Given the description of an element on the screen output the (x, y) to click on. 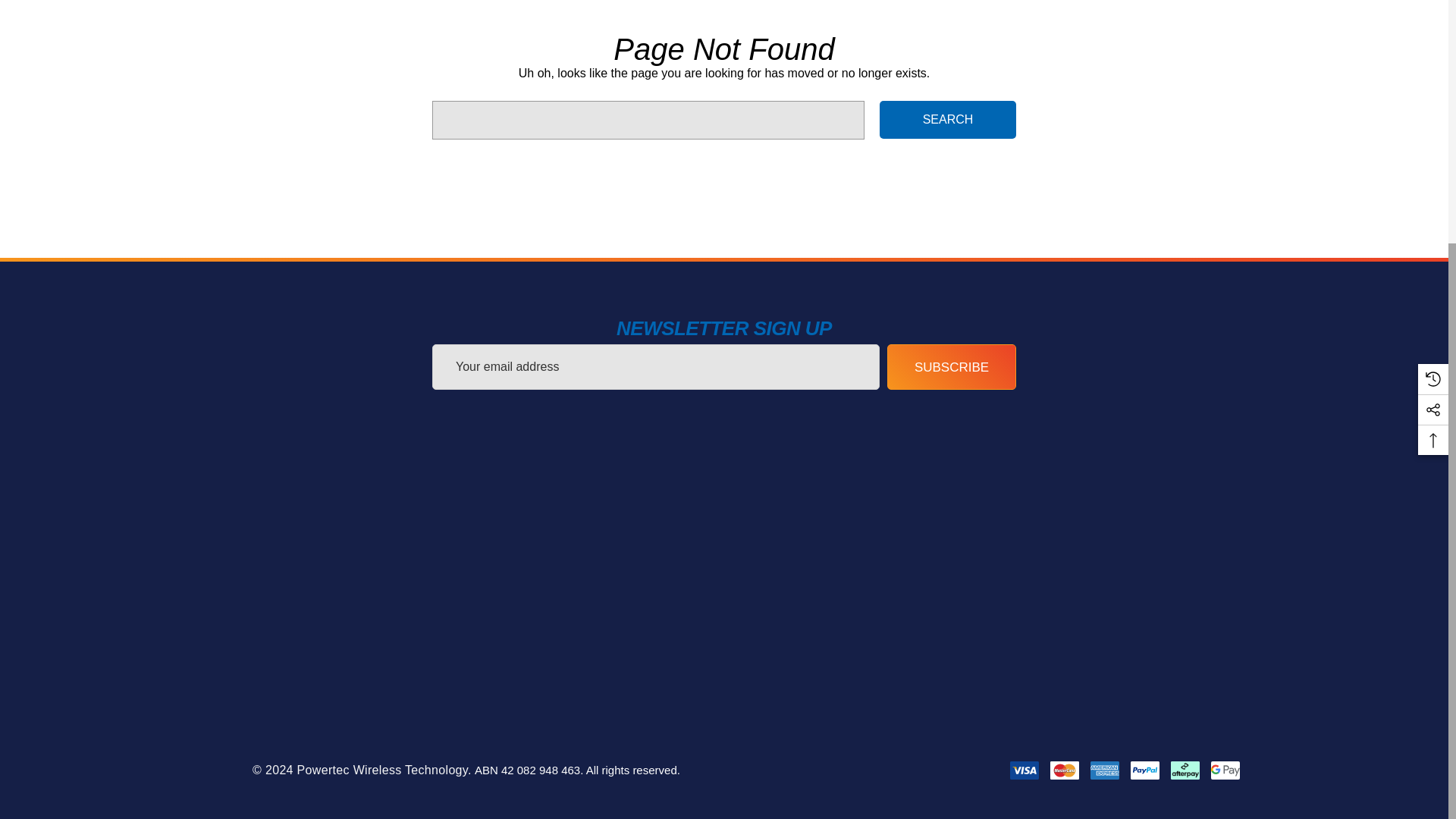
Paypal Paypal (1144, 770)
Mastercard Mastercard (1063, 770)
Visa Visa (1024, 770)
Amex Amex (1104, 770)
Search (947, 119)
Google Pay Google Pay (1225, 770)
